Given the description of an element on the screen output the (x, y) to click on. 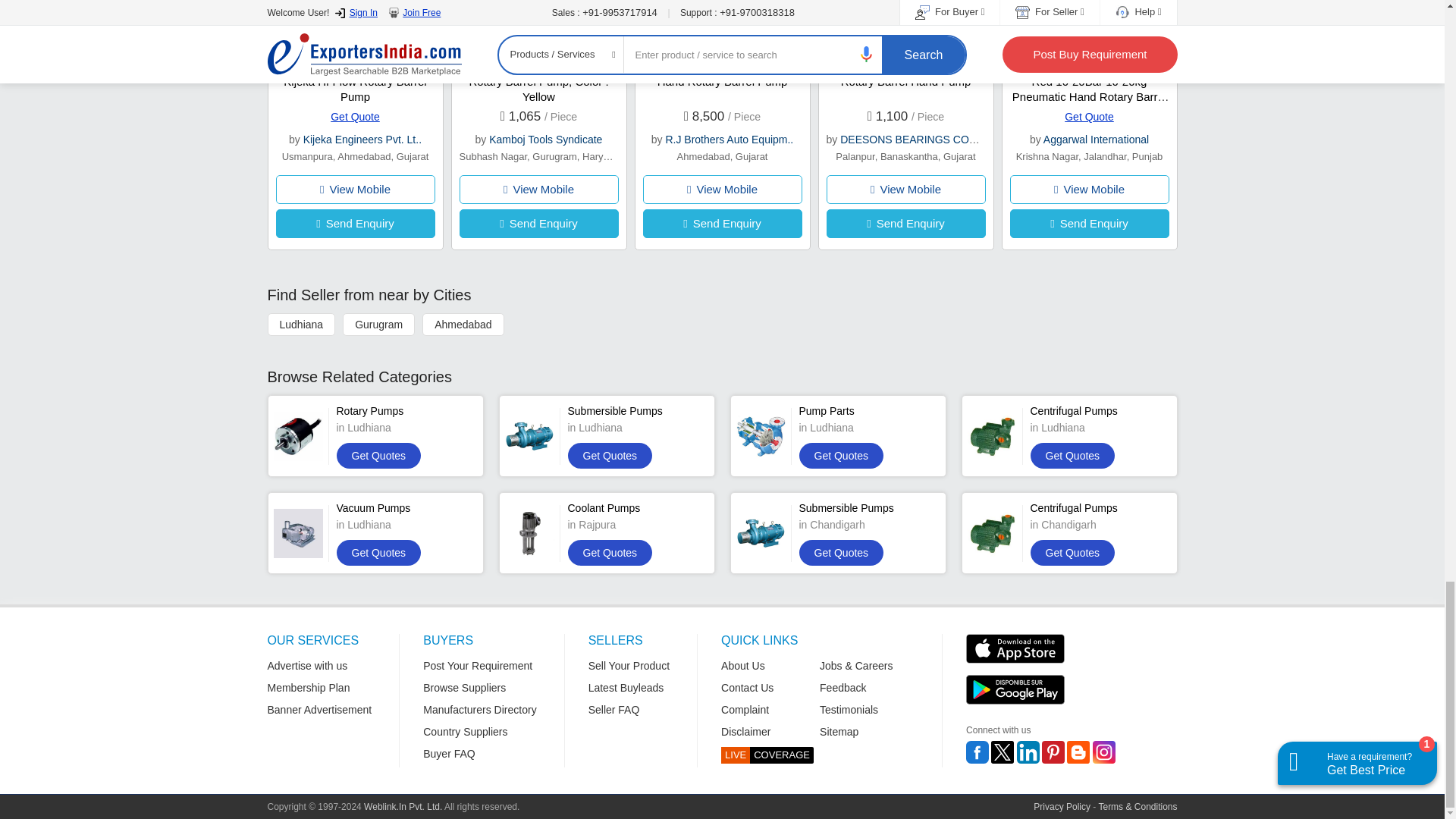
Rotary Barrel Pump, Color : Yellow (538, 89)
Hand Rotary Barrel Pump (722, 81)
Rotary Barrel Hand Pump (906, 81)
Kijeka Hi-Flow Rotary Barrel Pump (354, 89)
